Given the description of an element on the screen output the (x, y) to click on. 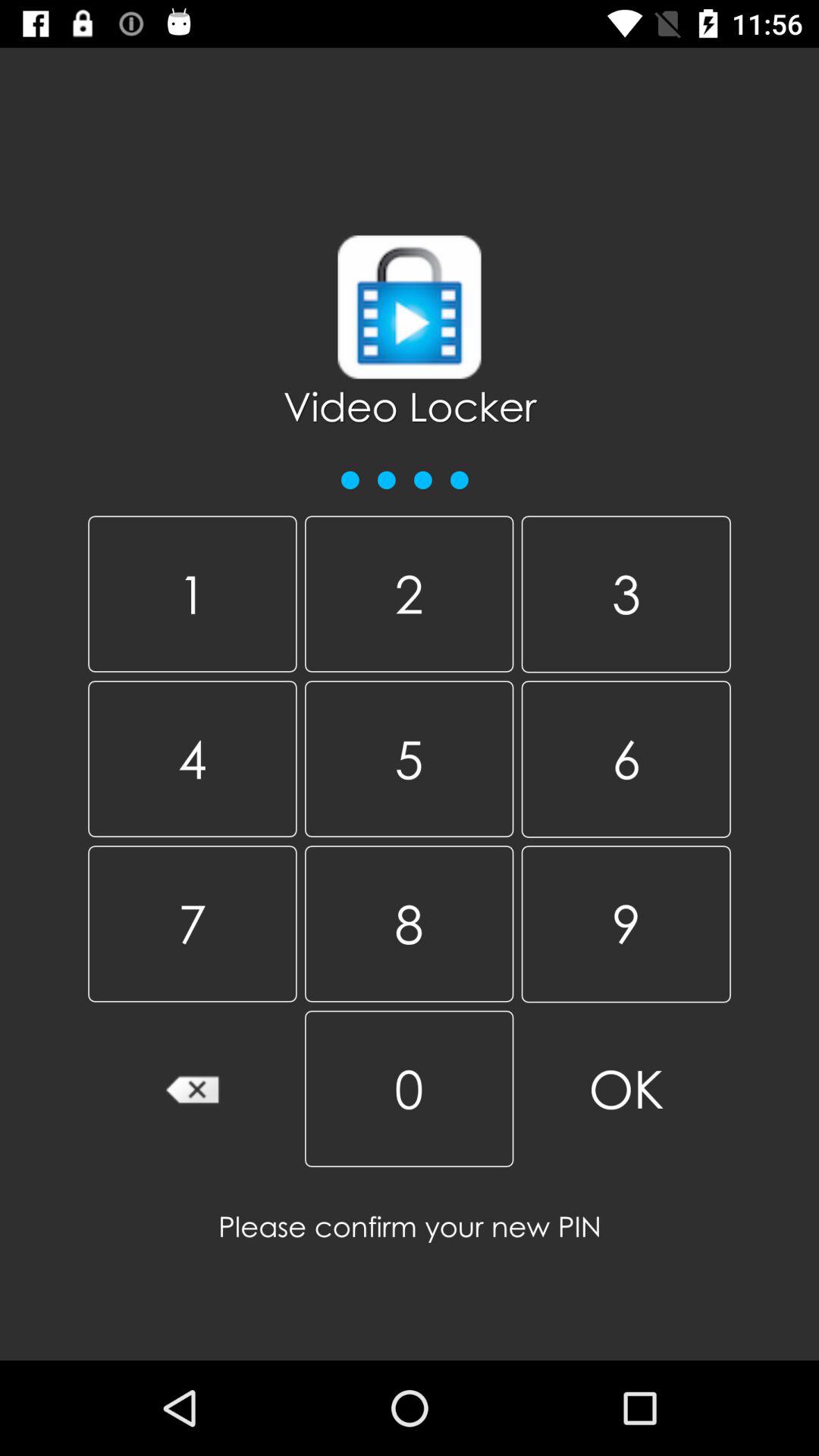
turn on the icon below 7 item (192, 1088)
